Given the description of an element on the screen output the (x, y) to click on. 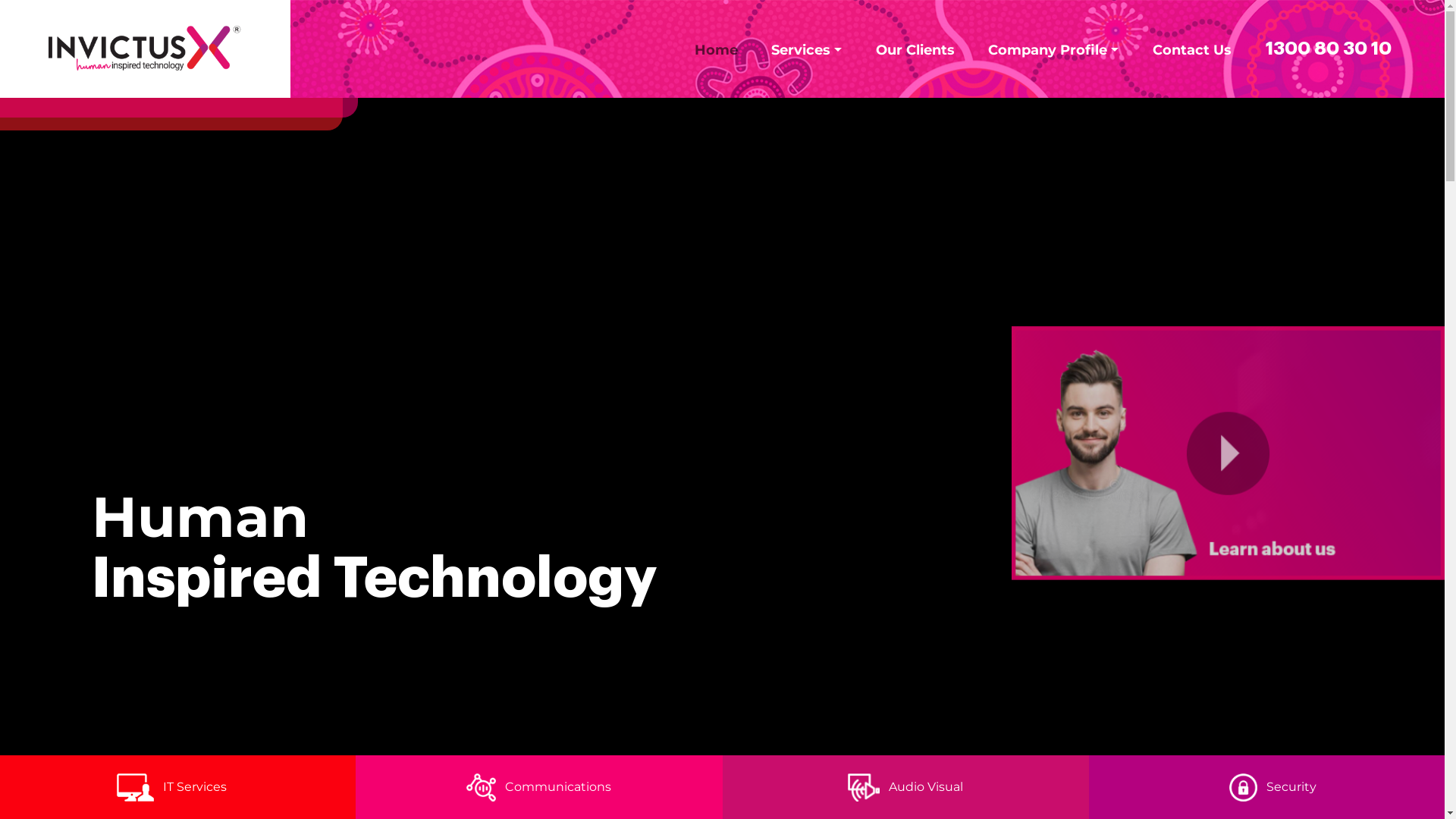
Home Element type: text (715, 49)
Contact Us Element type: text (1191, 49)
1300 80 30 10 Element type: text (1328, 48)
Our Clients Element type: text (914, 49)
Services Element type: text (806, 49)
Company Profile Element type: text (1053, 49)
